Given the description of an element on the screen output the (x, y) to click on. 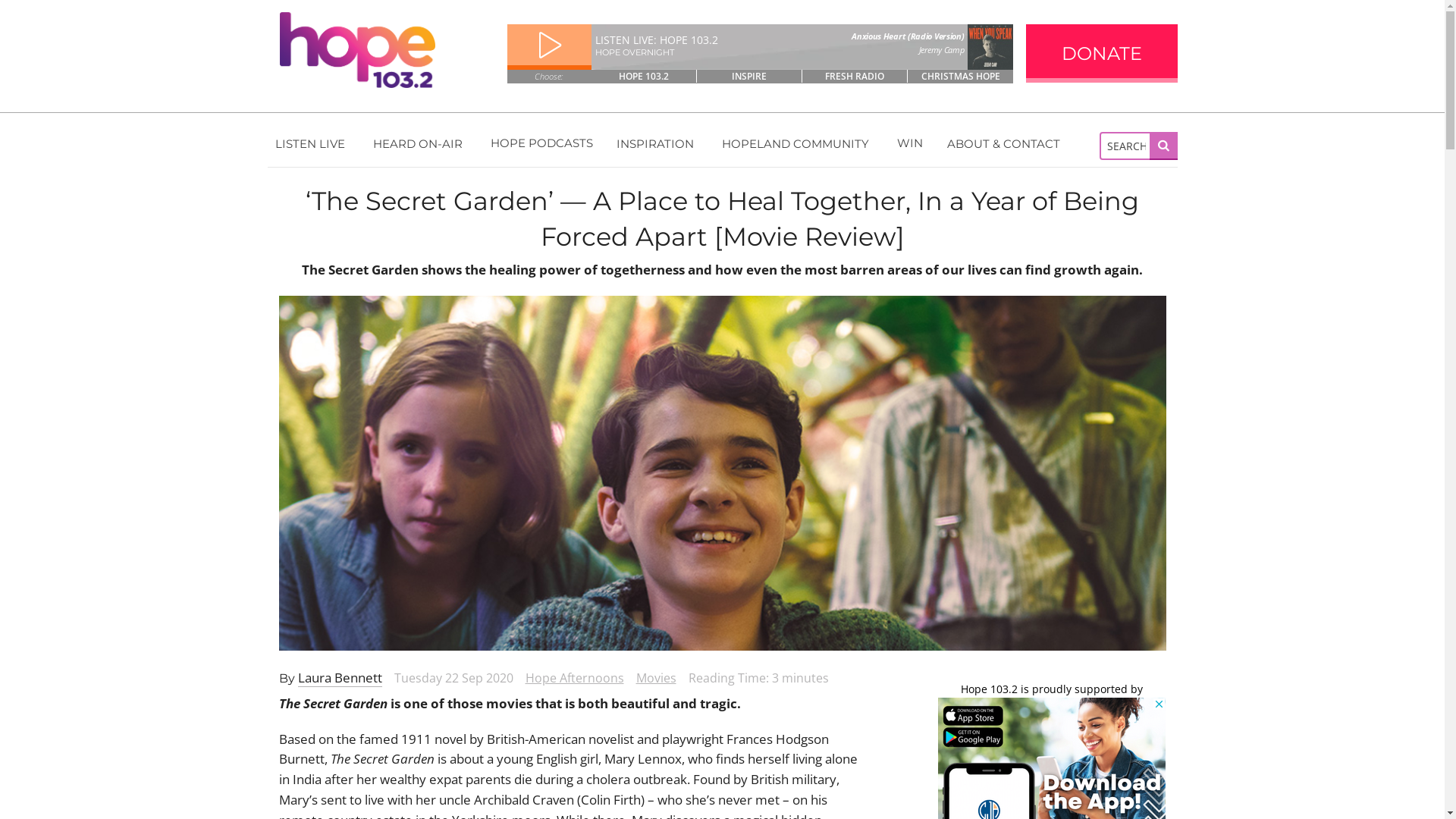
WIN Element type: text (909, 143)
INSPIRE Element type: text (749, 75)
CHRISTMAS HOPE Element type: text (960, 75)
ABOUT & CONTACT Element type: text (1005, 143)
HEARD ON-AIR Element type: text (419, 143)
DONATE Element type: text (1100, 53)
Laura Bennett Element type: text (339, 677)
HOPE 103.2 Element type: text (643, 75)
Hope Afternoons Element type: text (573, 677)
HOPELAND COMMUNITY Element type: text (797, 143)
LISTEN LIVE Element type: text (311, 143)
Movies Element type: text (655, 677)
INSPIRATION Element type: text (657, 143)
FRESH RADIO Element type: text (854, 75)
HOPE PODCASTS Element type: text (541, 143)
